Given the description of an element on the screen output the (x, y) to click on. 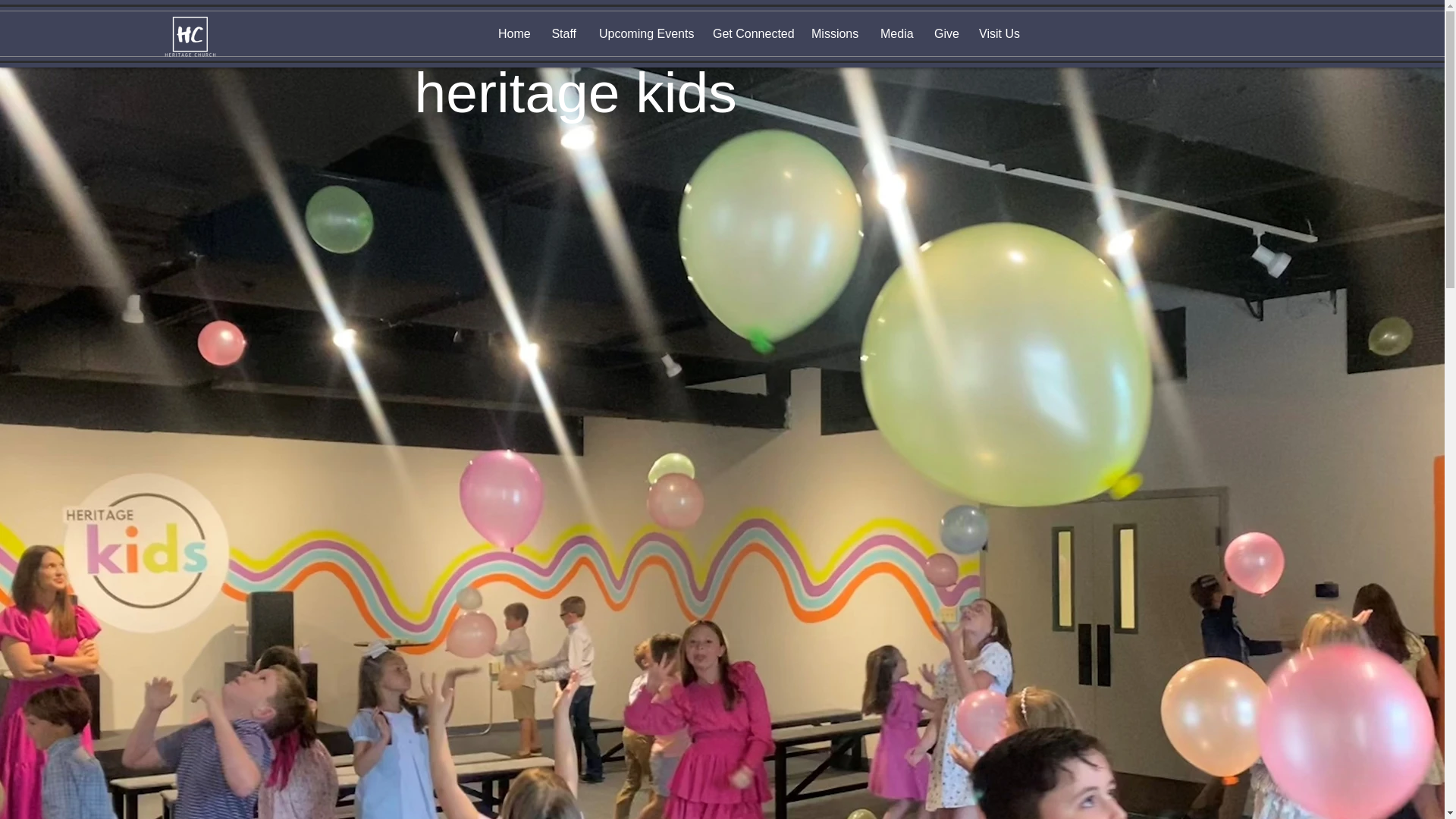
Upcoming Events (644, 34)
Staff (564, 34)
Media (896, 34)
Get Connected (750, 34)
Home (513, 34)
Missions (834, 34)
Visit Us (998, 34)
Give (945, 34)
